Given the description of an element on the screen output the (x, y) to click on. 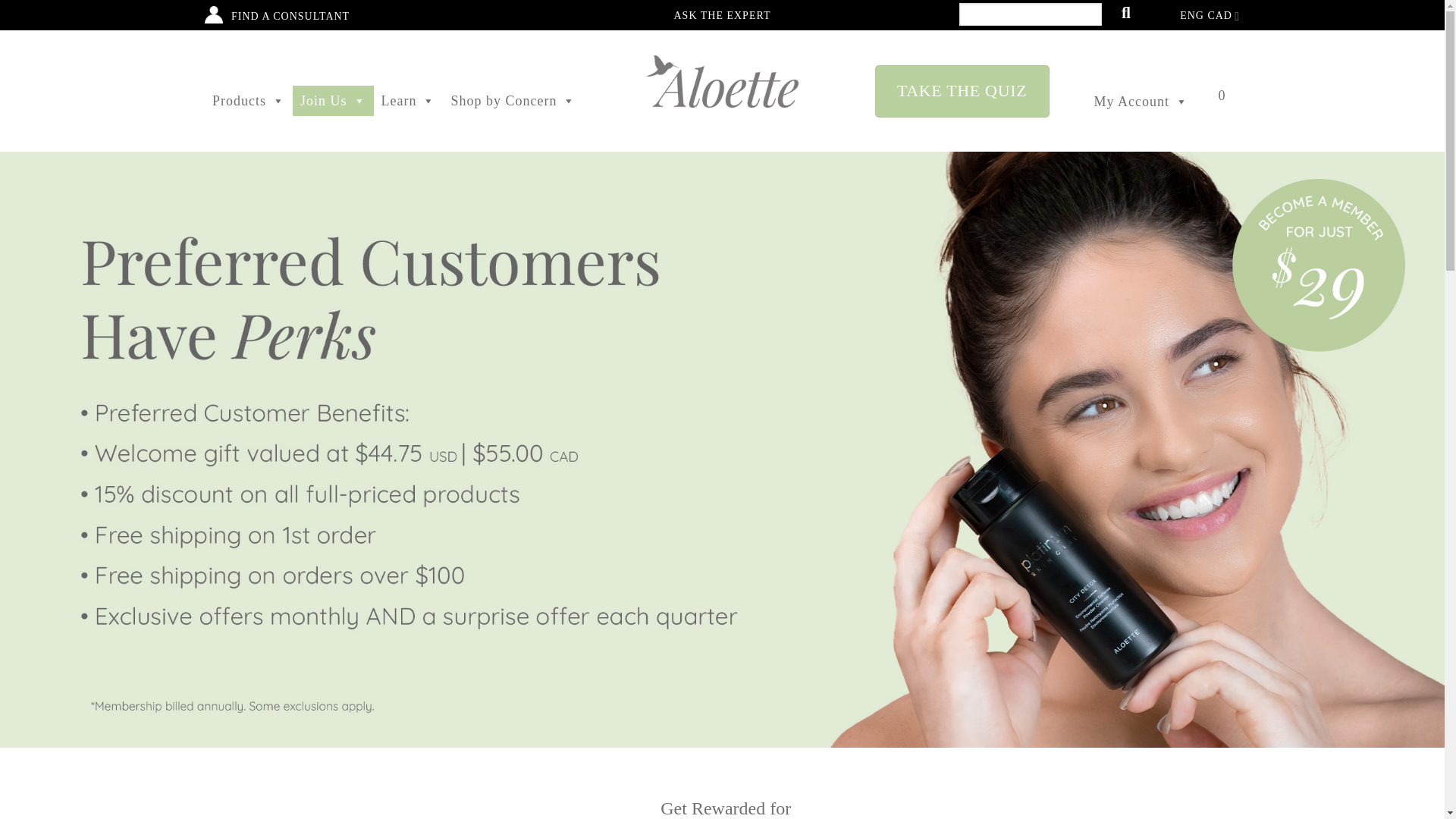
ENG CAD (1209, 11)
ASK THE EXPERT (721, 10)
Aloette (721, 81)
FIND A CONSULTANT (287, 12)
Products (248, 100)
